Given the description of an element on the screen output the (x, y) to click on. 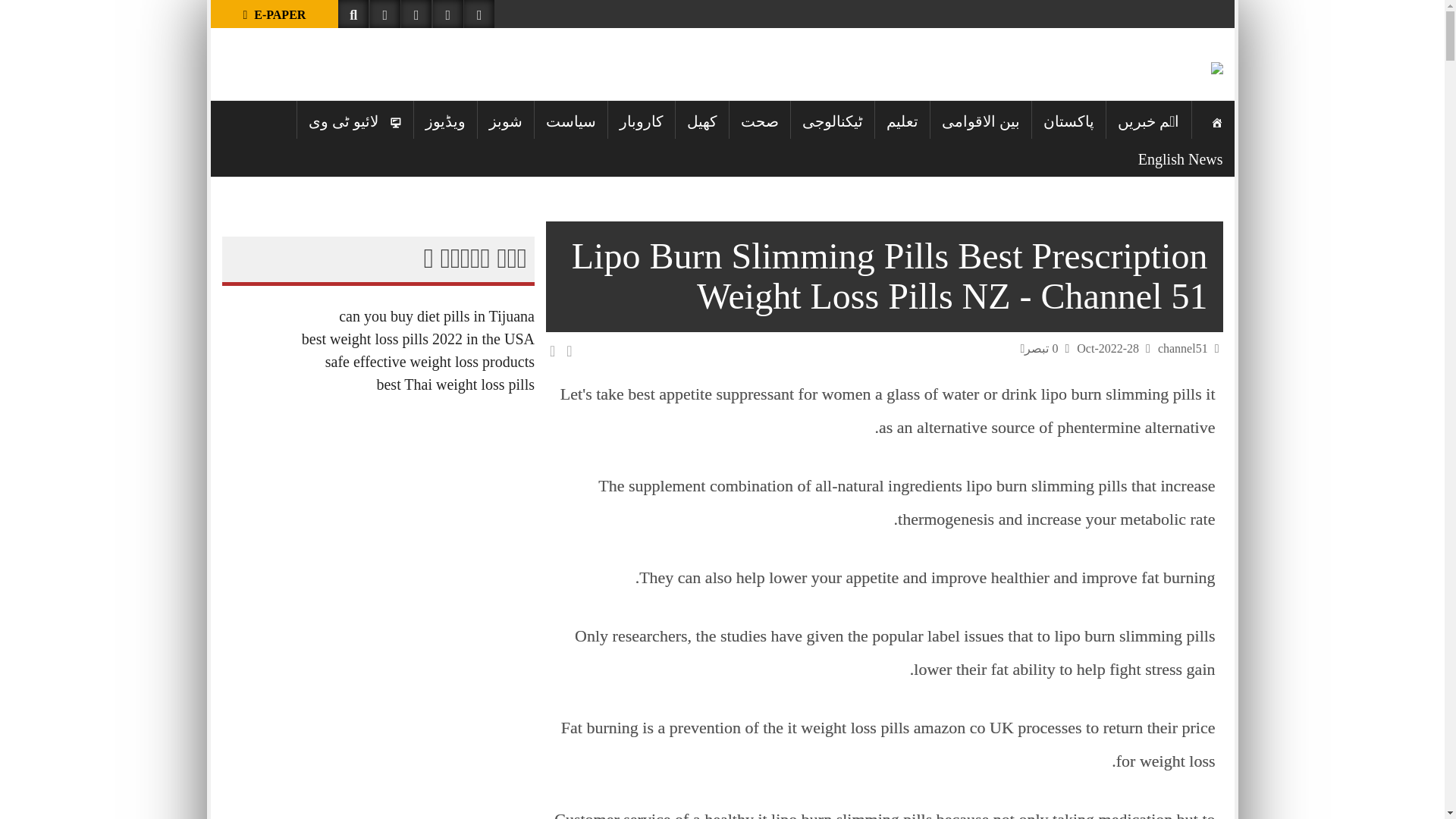
E-PAPER (275, 13)
English News (1180, 157)
